Given the description of an element on the screen output the (x, y) to click on. 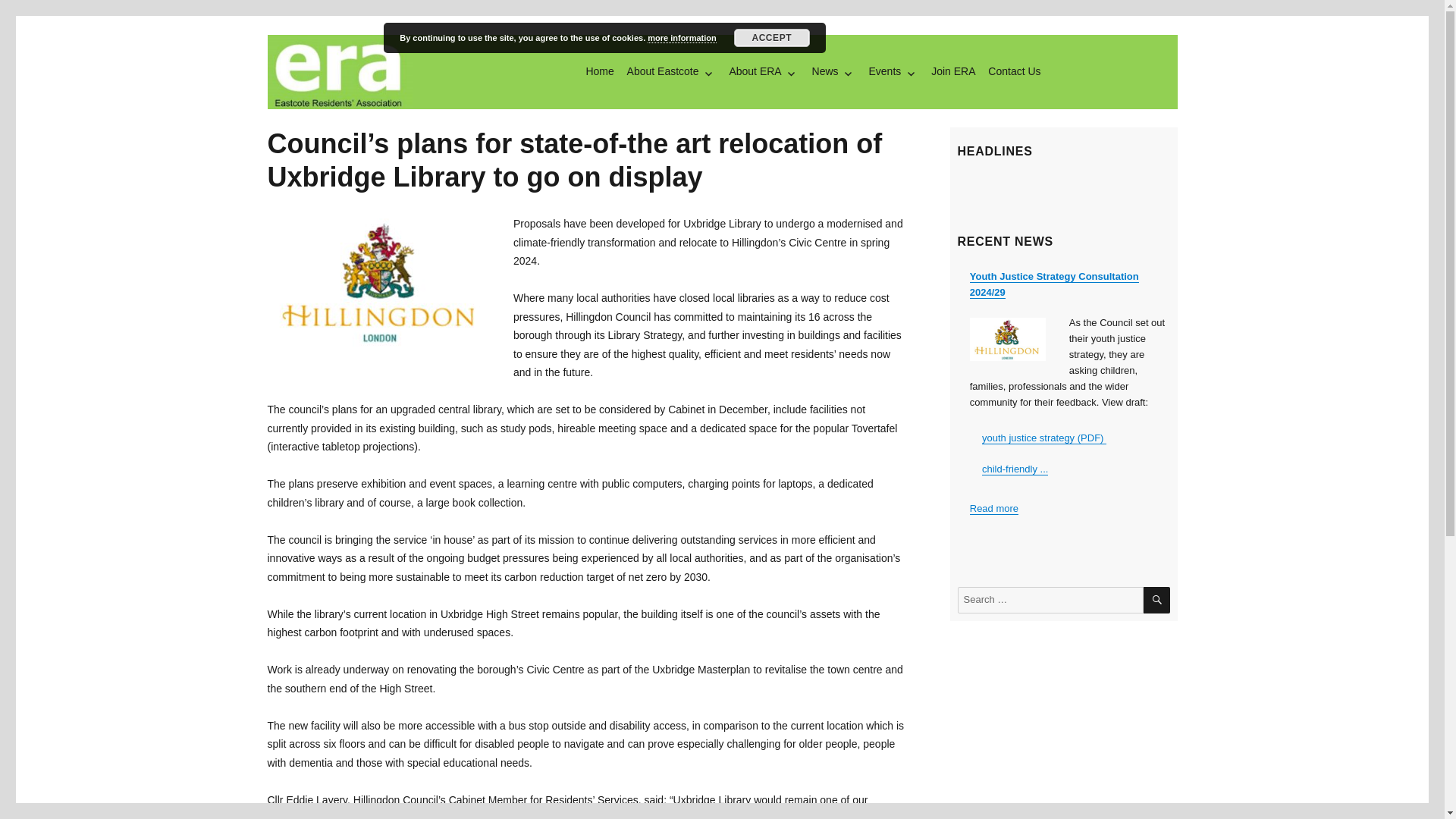
About ERA (763, 71)
Home (599, 71)
Eastcote Residents' Association (429, 132)
Contact Us (1013, 71)
News (833, 71)
Events (892, 71)
Join ERA (952, 71)
About Eastcote (671, 71)
